Given the description of an element on the screen output the (x, y) to click on. 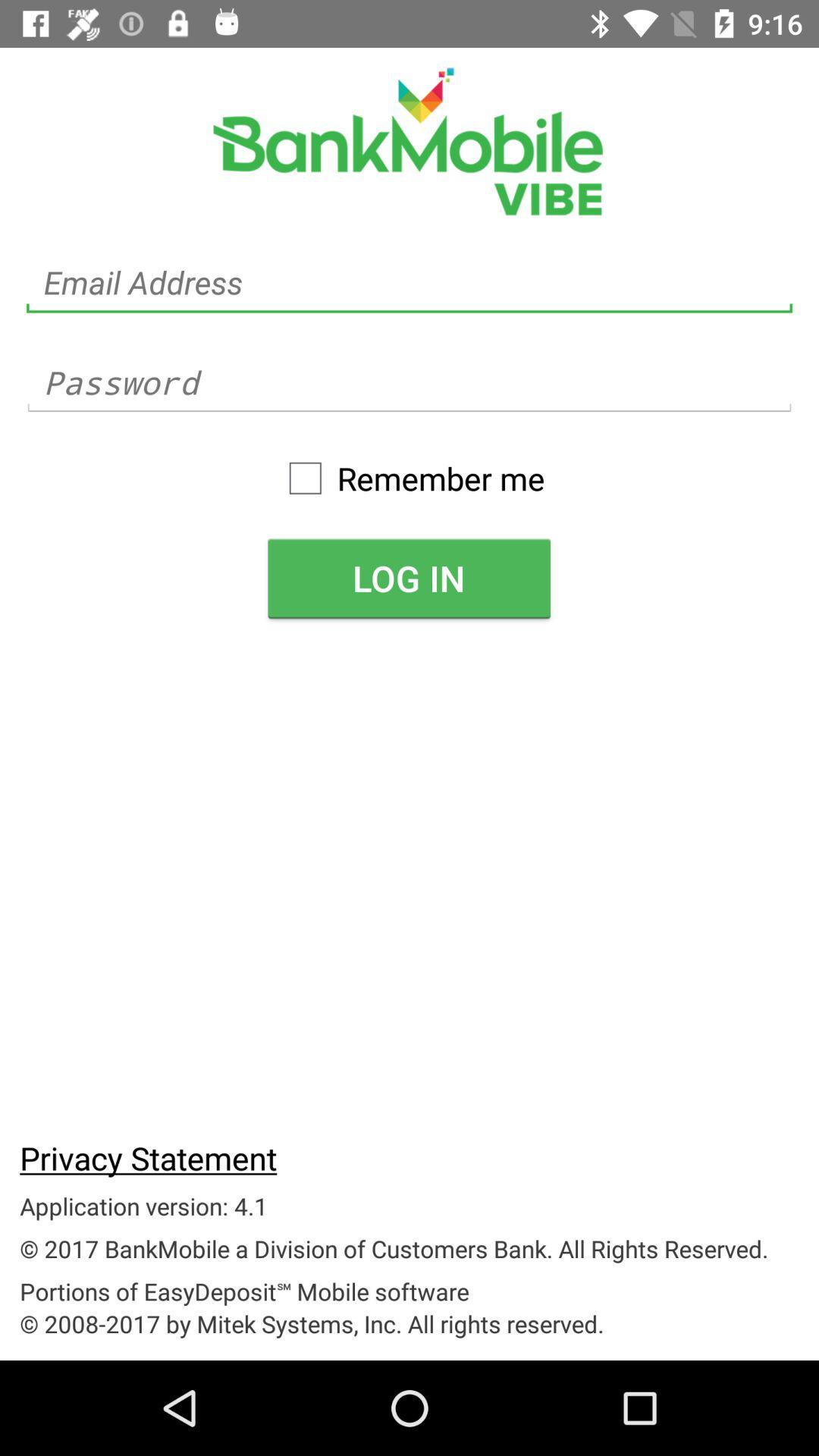
launch privacy statement (147, 1157)
